Given the description of an element on the screen output the (x, y) to click on. 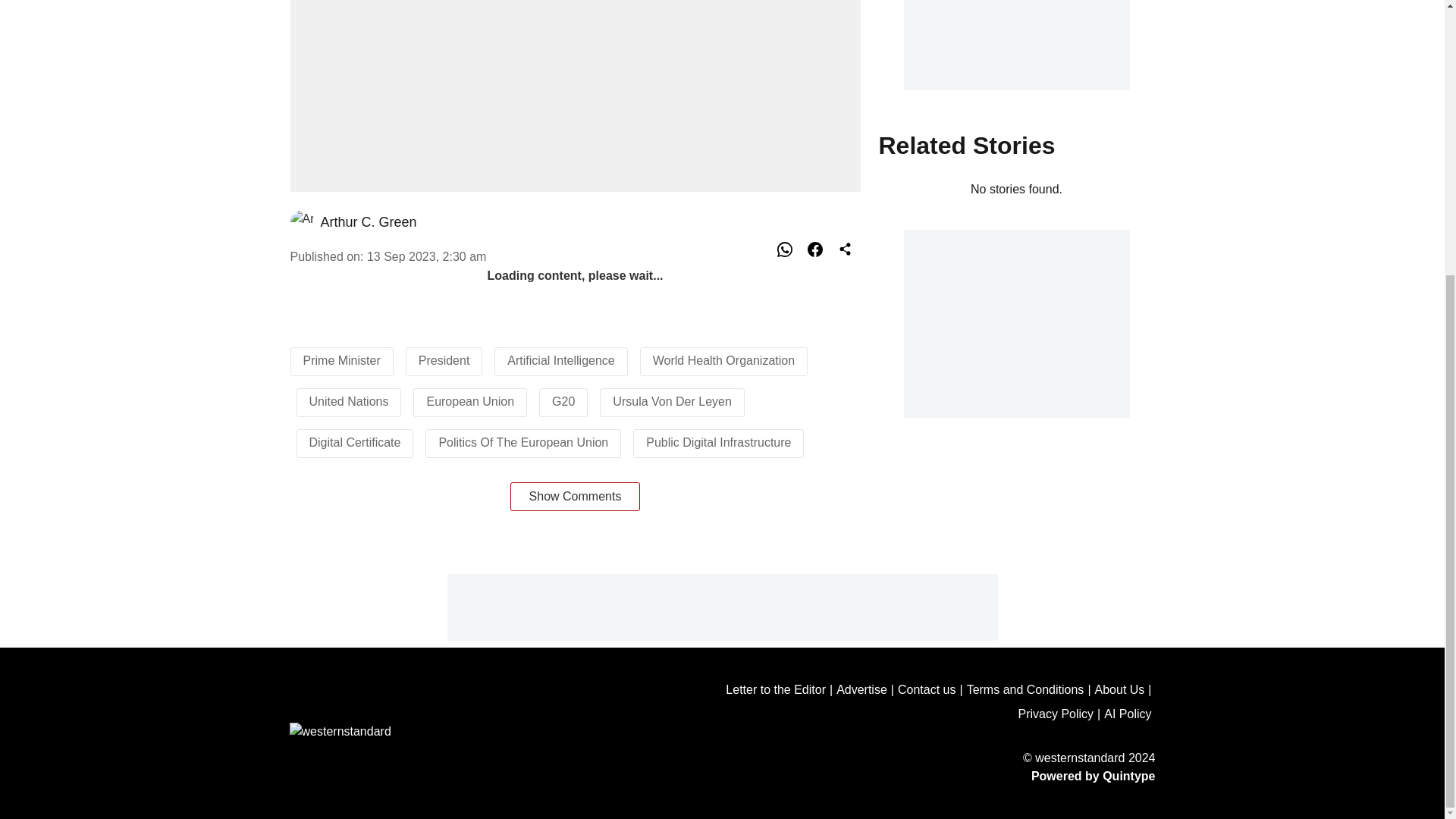
Arthur C. Green (368, 222)
Prime Minister (341, 359)
